Given the description of an element on the screen output the (x, y) to click on. 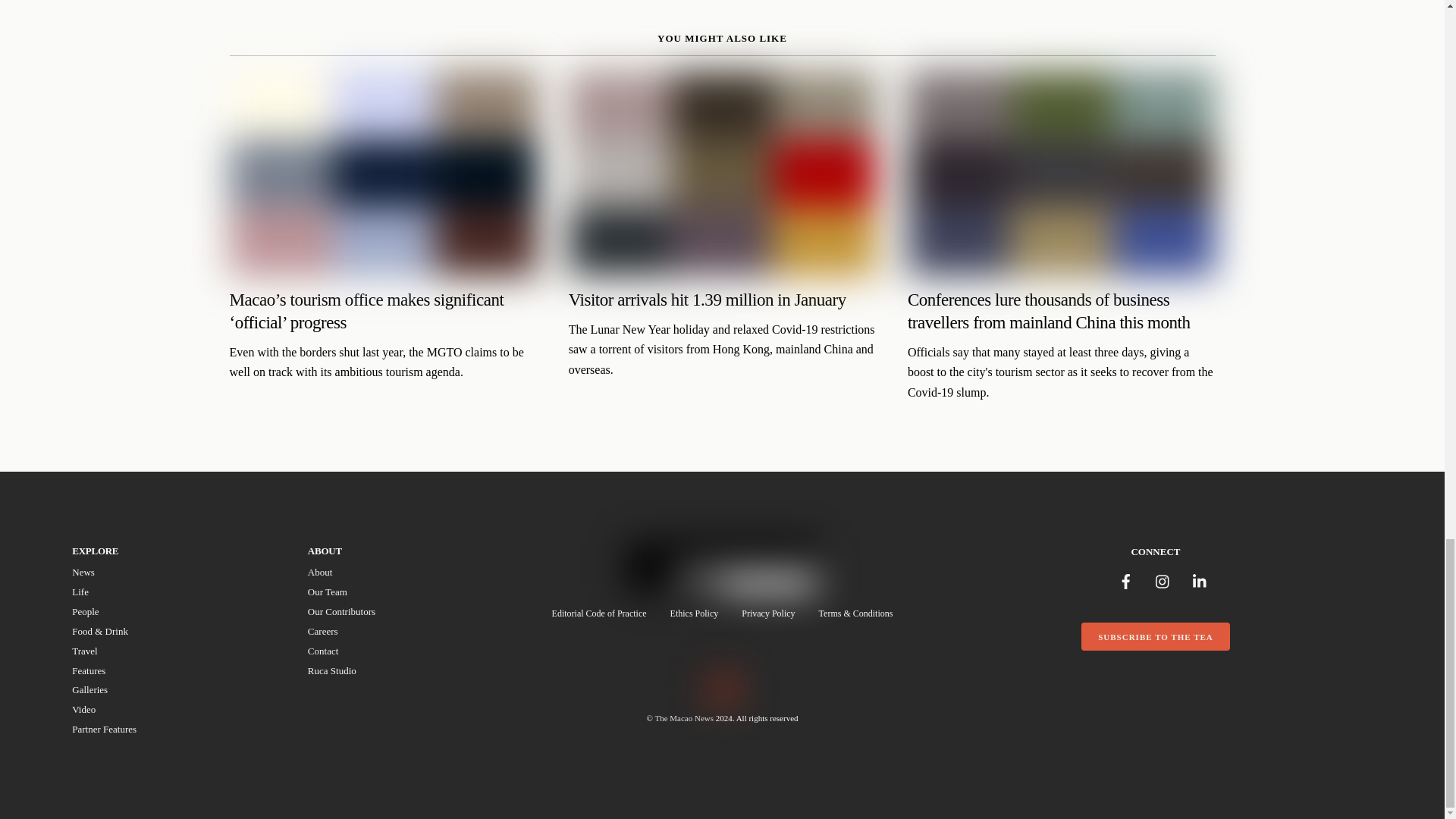
Macao tourists tourism (382, 173)
Macao visitors (722, 173)
